Given the description of an element on the screen output the (x, y) to click on. 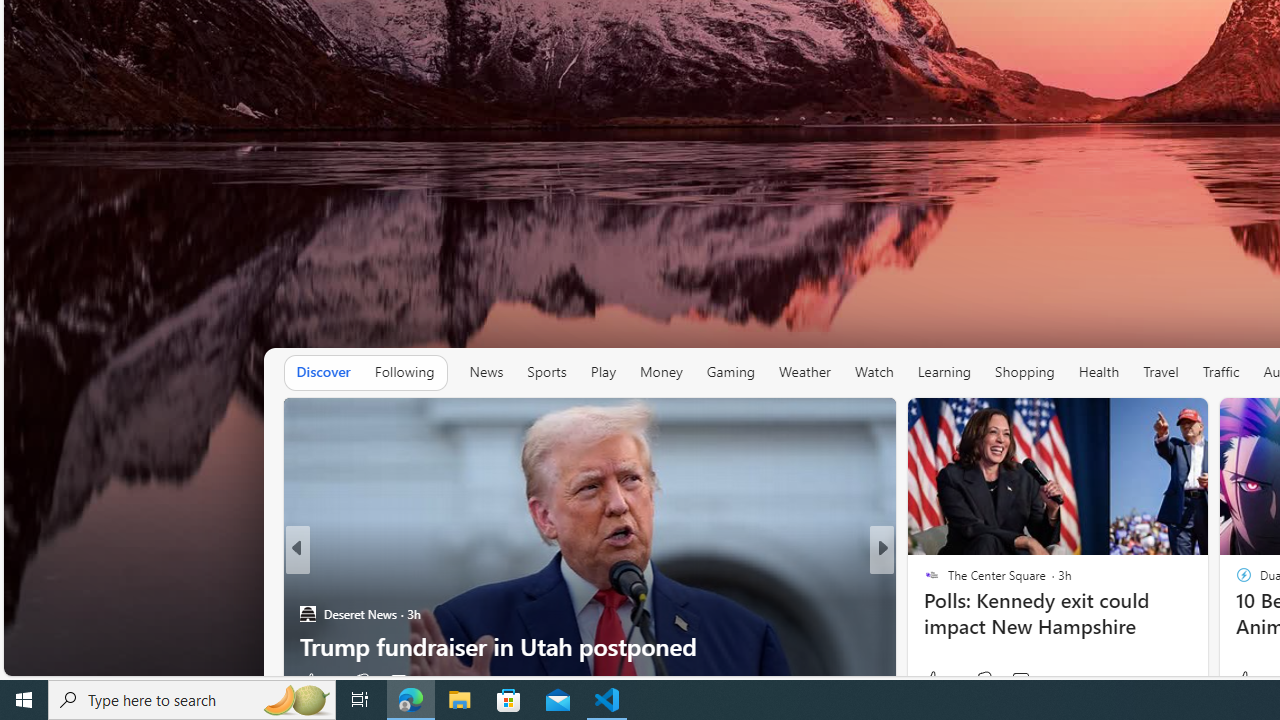
View comments 26 Comment (404, 681)
80 Like (934, 681)
Sky Blue Bikes (952, 614)
People (923, 581)
View comments 29 Comment (1022, 681)
View comments 31 Comment (1029, 681)
